Given the description of an element on the screen output the (x, y) to click on. 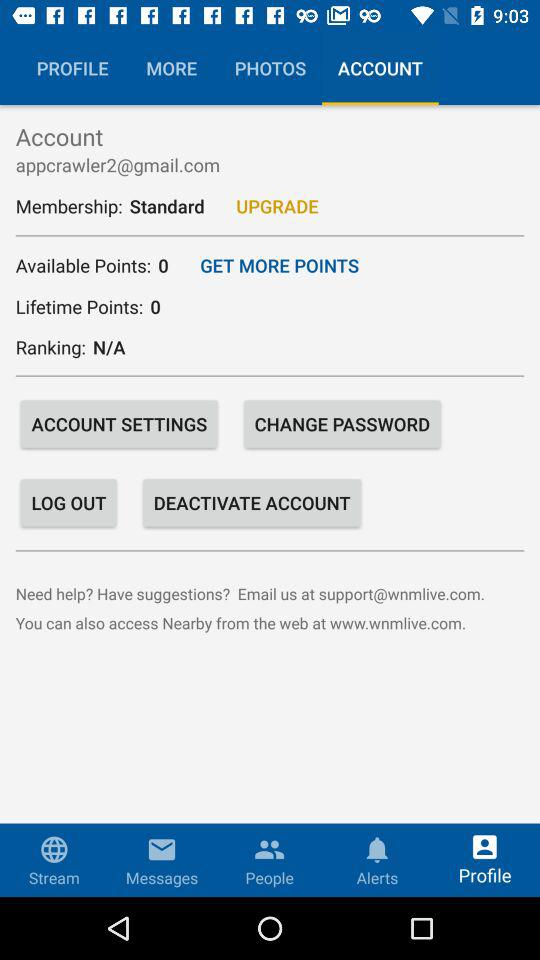
open the icon below the appcrawler2@gmail.com icon (277, 206)
